Given the description of an element on the screen output the (x, y) to click on. 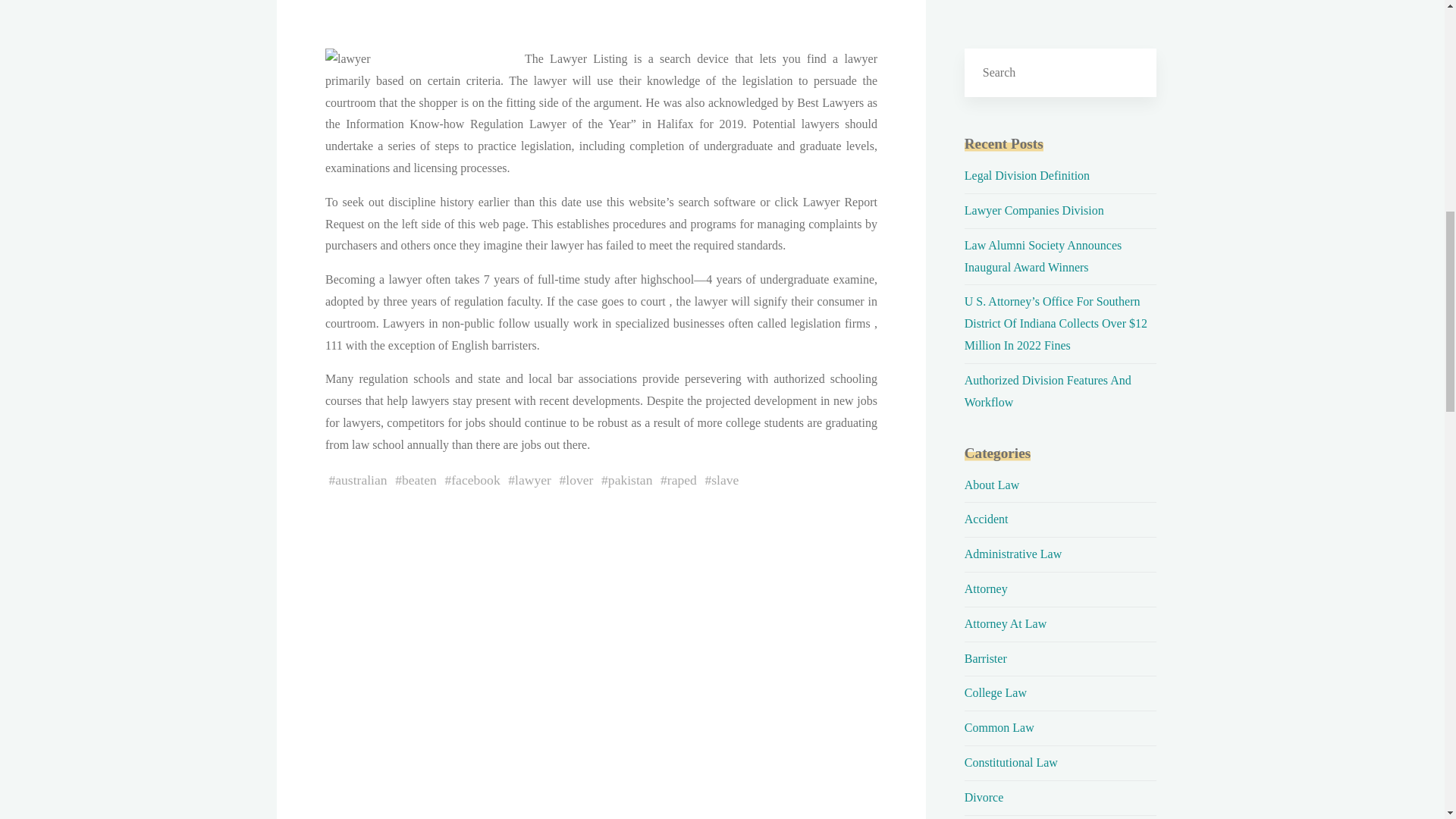
australian (360, 479)
